Given the description of an element on the screen output the (x, y) to click on. 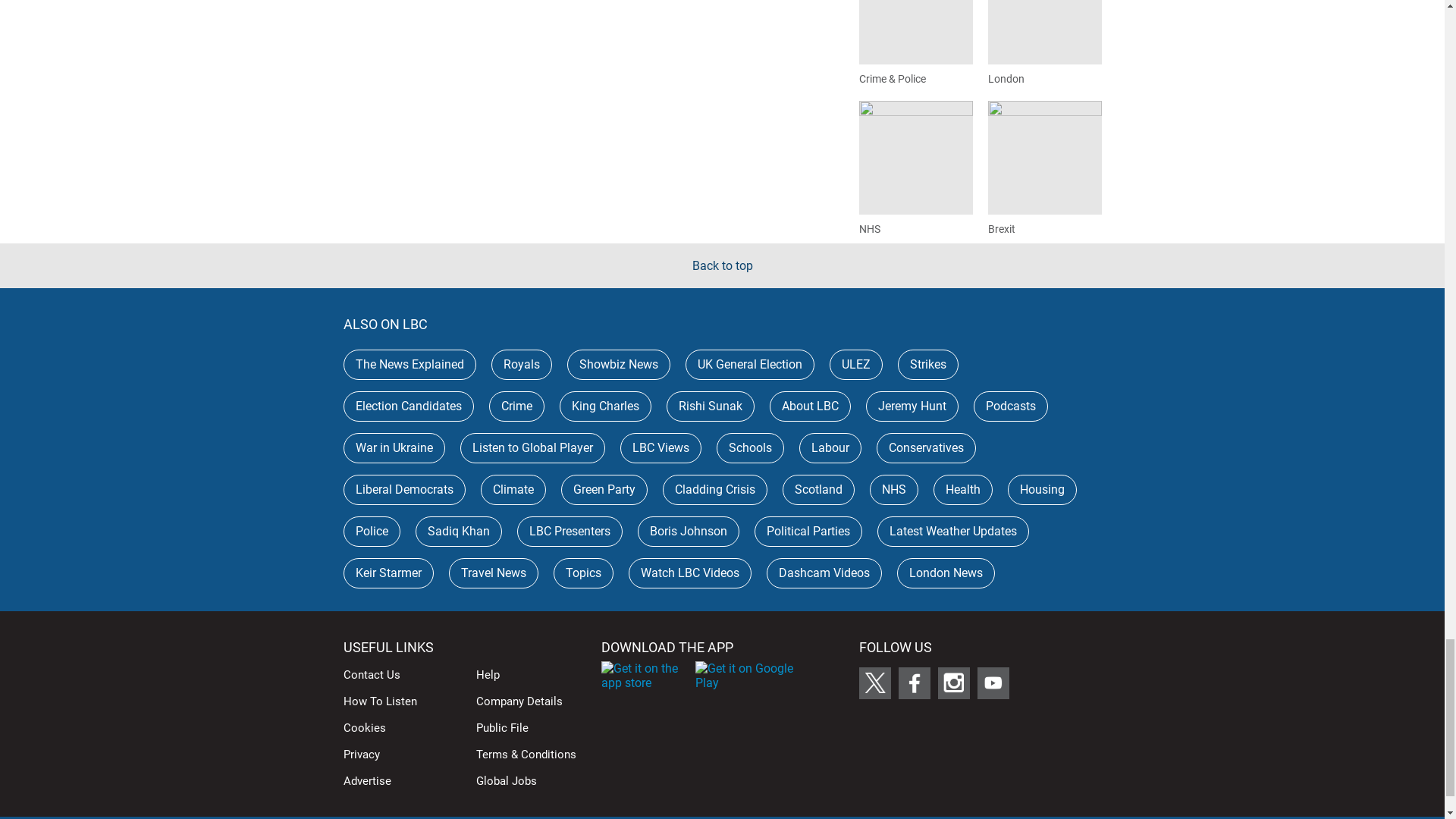
Follow LBC on X (874, 683)
Follow LBC on Youtube (992, 683)
Follow LBC on Instagram (953, 683)
Back to top (721, 265)
Follow LBC on Facebook (914, 683)
